Given the description of an element on the screen output the (x, y) to click on. 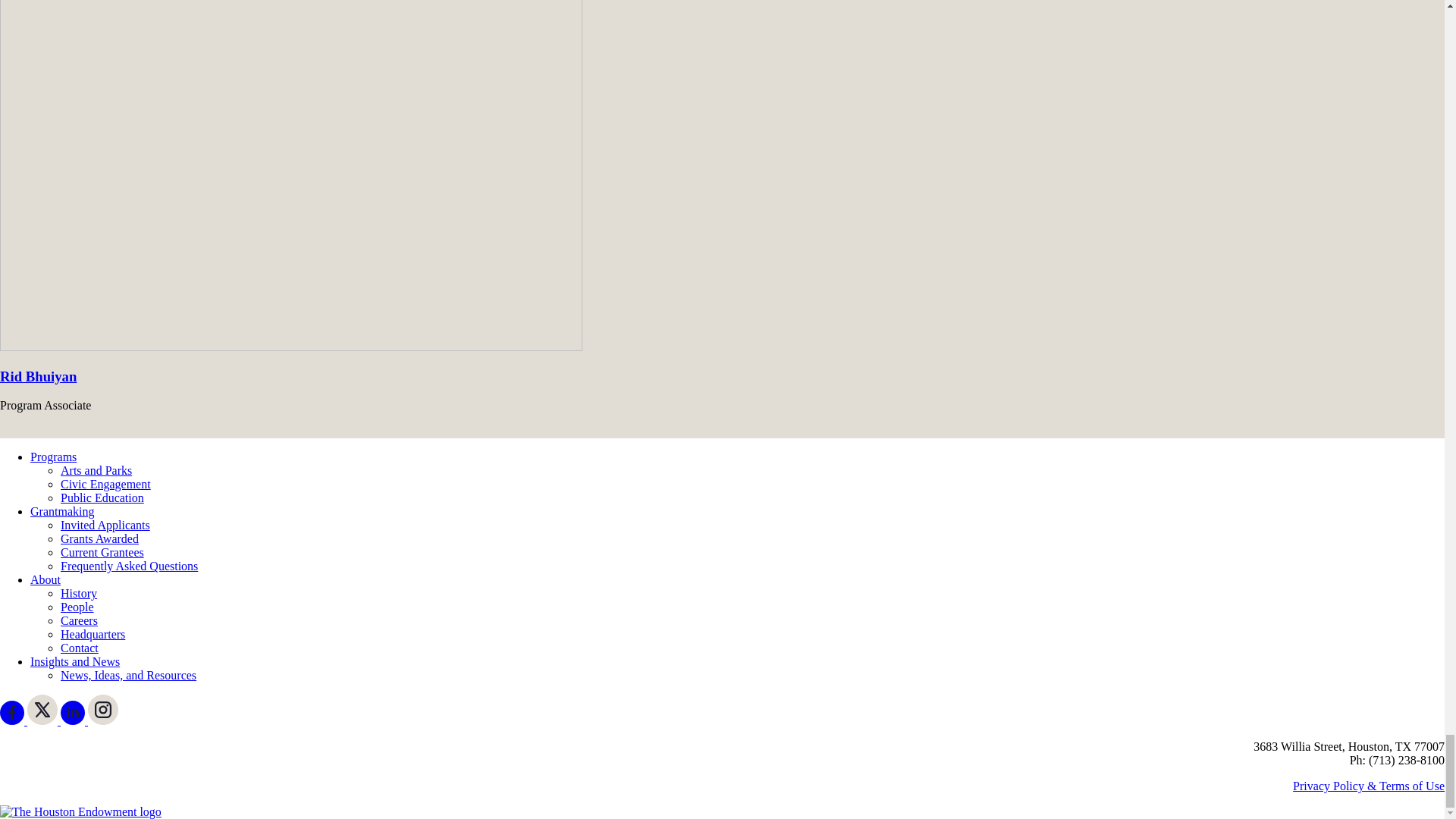
Rid Bhuiyan (38, 376)
Programs (53, 456)
Arts and Parks (96, 470)
